Given the description of an element on the screen output the (x, y) to click on. 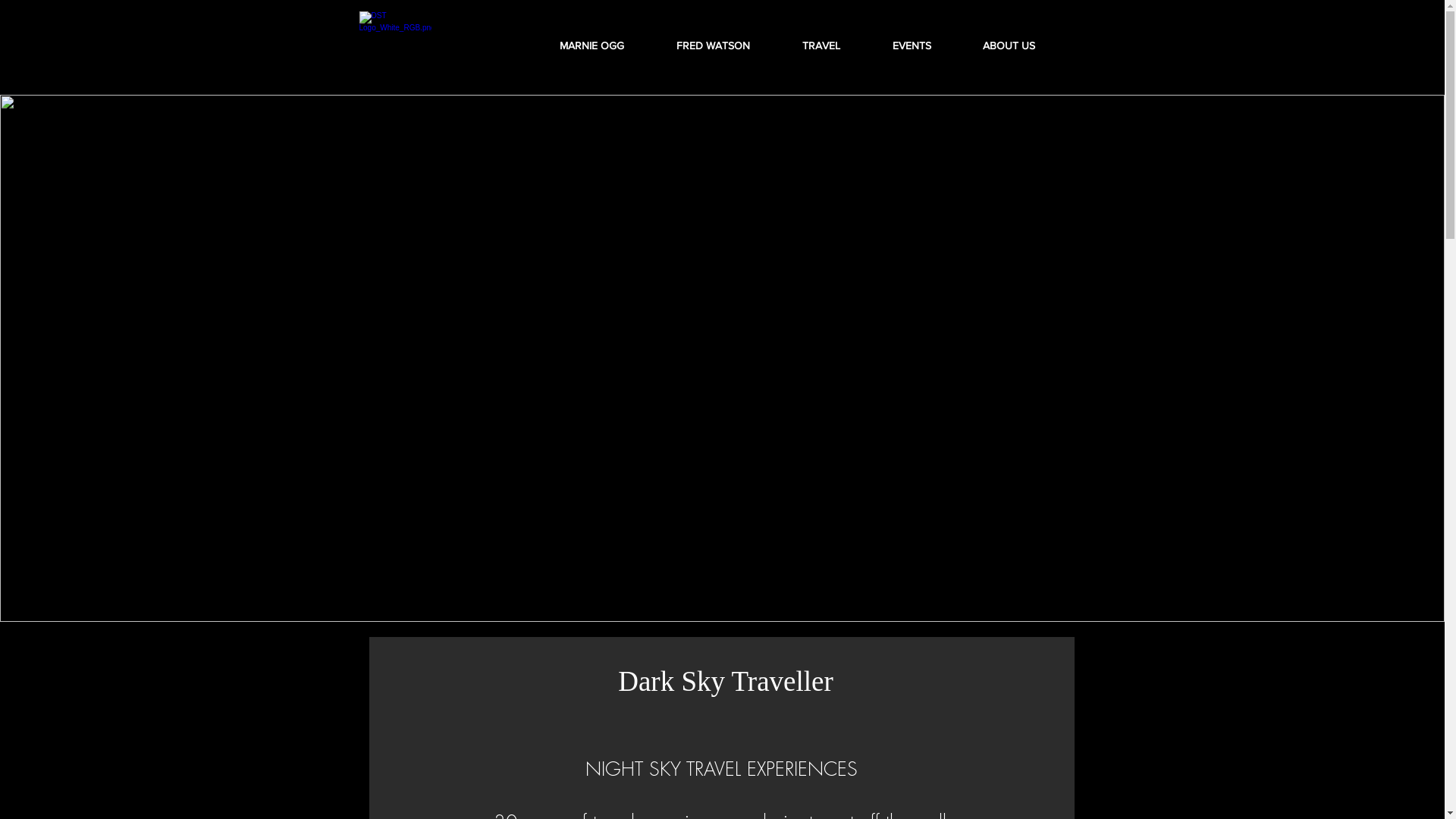
ABOUT US Element type: text (1022, 45)
MARNIE OGG Element type: text (605, 45)
FRED WATSON Element type: text (727, 45)
EVENTS Element type: text (926, 45)
TRAVEL Element type: text (835, 45)
